Given the description of an element on the screen output the (x, y) to click on. 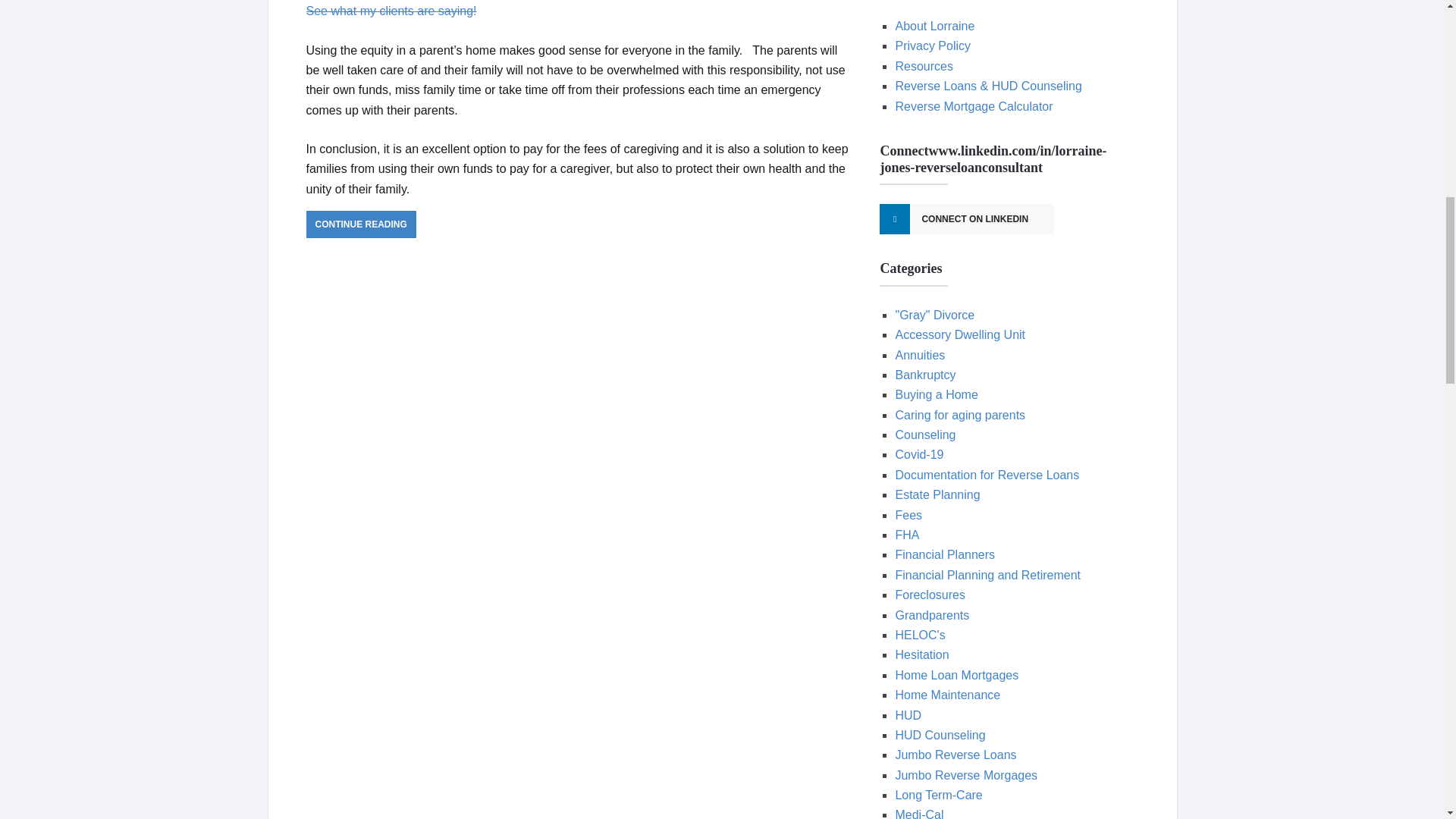
Financial Planning and Retirement (987, 574)
Foreclosures (929, 594)
Caring for aging parents (960, 414)
Documentation for Reverse Loans (986, 474)
Estate Planning (937, 494)
Privacy Policy (933, 45)
Home Loan Mortgages (956, 675)
FHA (906, 534)
Counseling (925, 434)
Buying a Home (935, 394)
About Lorraine (934, 25)
Grandparents (932, 615)
CONNECT ON LINKEDIN (966, 218)
Covid-19 (919, 454)
Resources (923, 65)
